Given the description of an element on the screen output the (x, y) to click on. 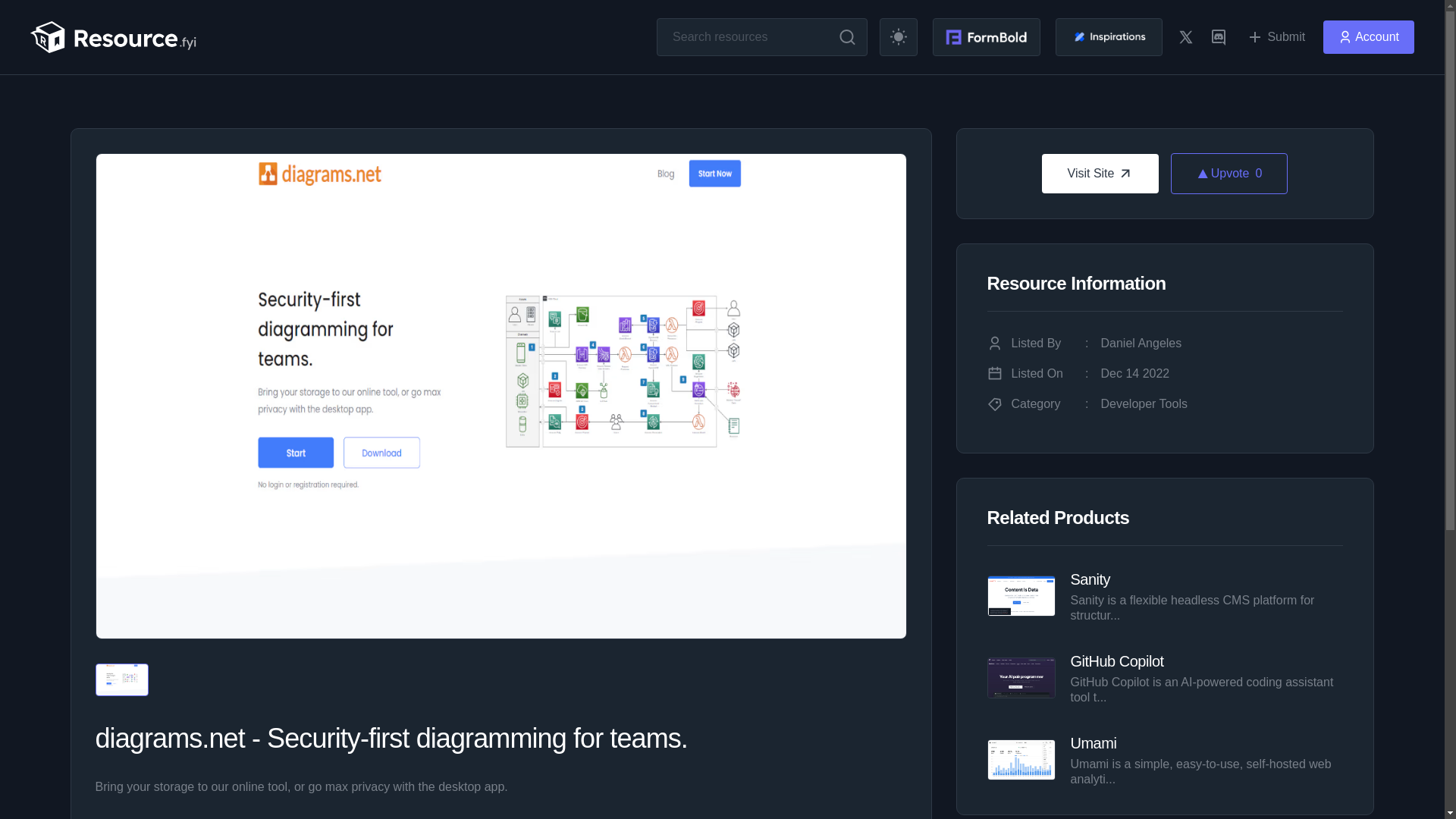
Daniel Angeles (1141, 342)
Umami (1228, 173)
Submit (1093, 742)
GitHub Copilot (1275, 37)
Visit Site (1116, 660)
Account (1100, 173)
Sanity (1368, 37)
Developer Tools (1090, 578)
